Given the description of an element on the screen output the (x, y) to click on. 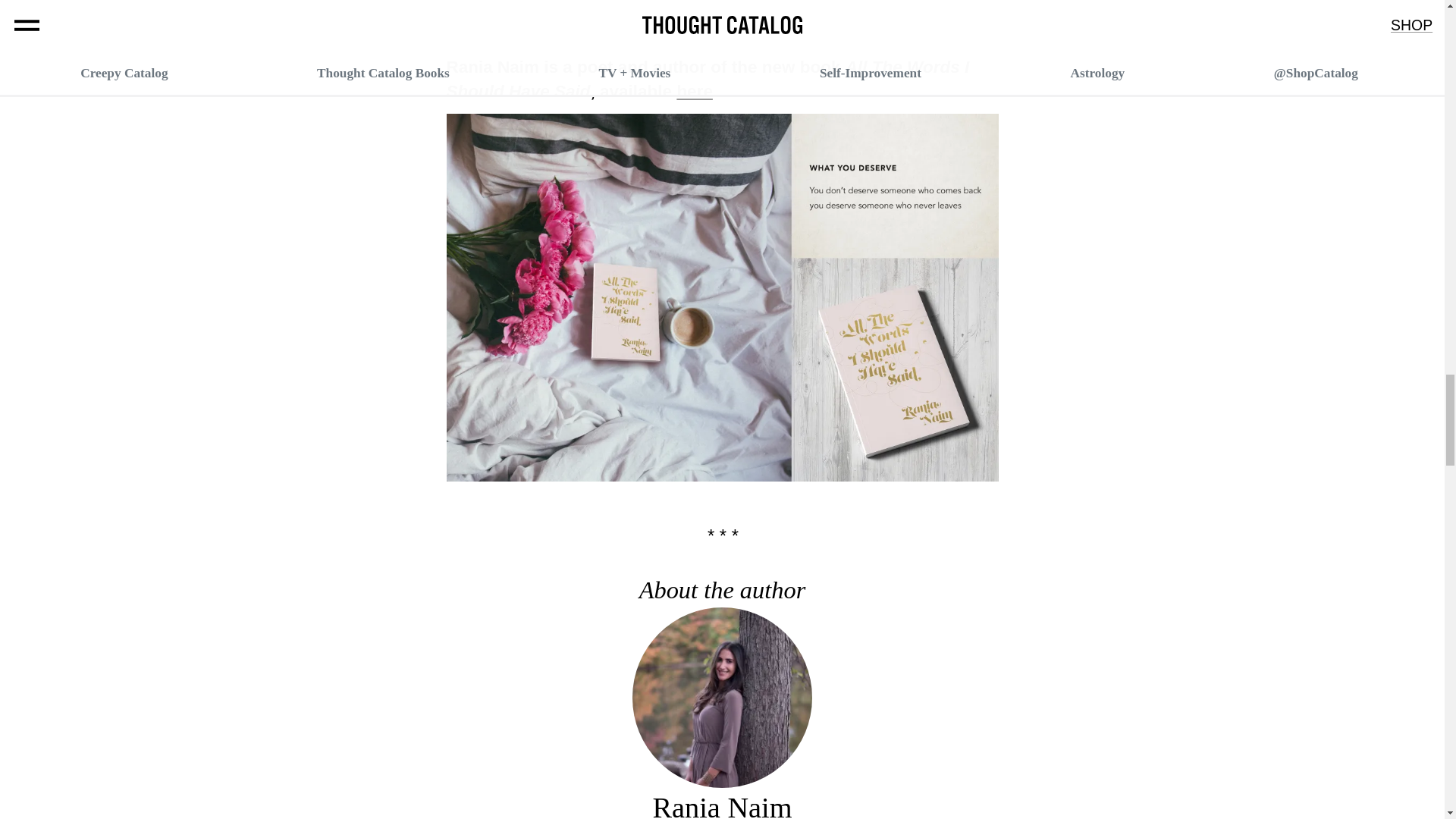
Rania Naim author profile (721, 774)
here (695, 90)
Rania Naim author profile (722, 805)
Rania Naim (722, 805)
